Given the description of an element on the screen output the (x, y) to click on. 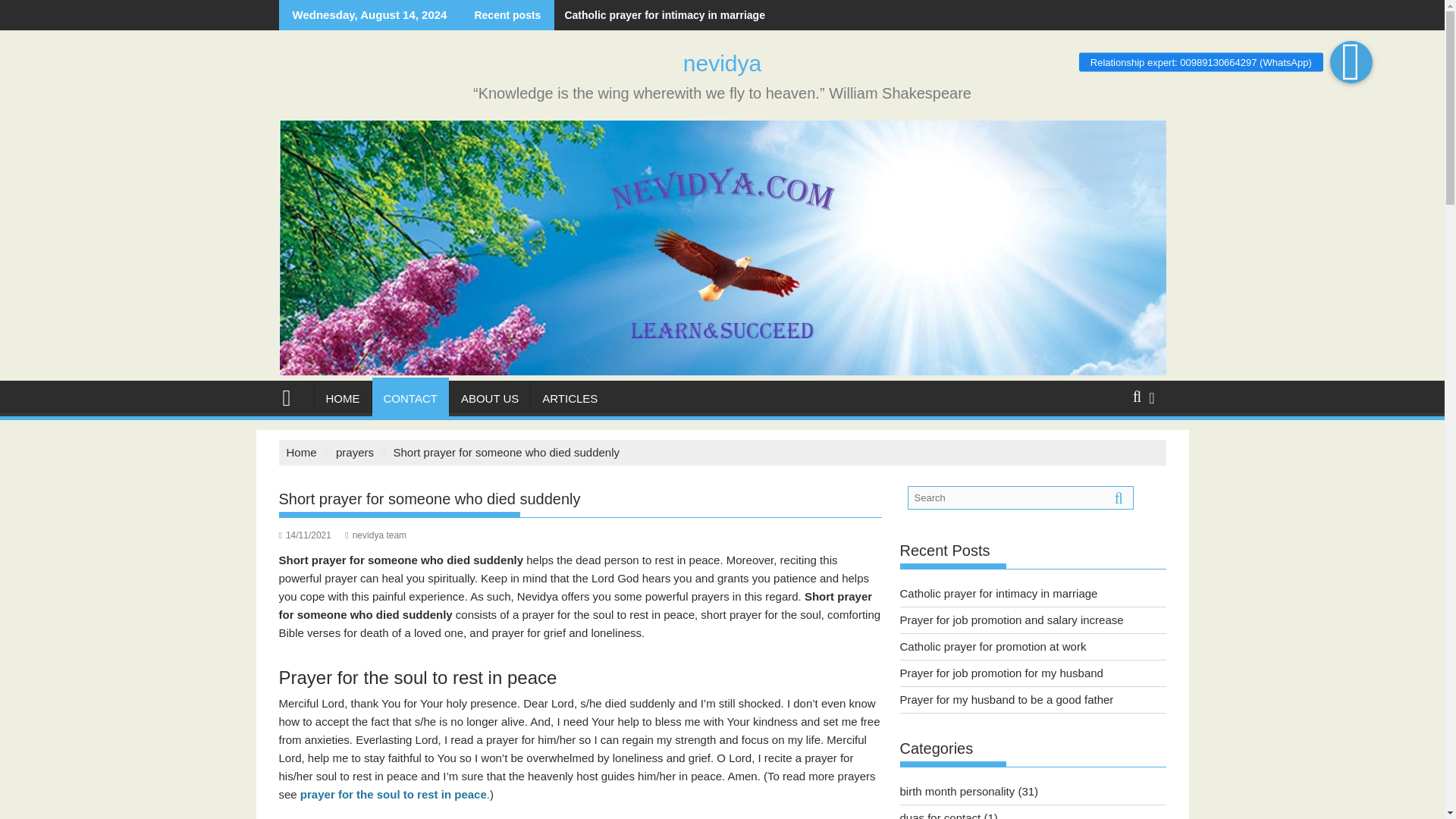
Catholic prayer for intimacy in marriage (659, 15)
nevidya team (375, 534)
ARTICLES (569, 398)
Home (301, 451)
HOME (342, 398)
prayers (355, 451)
nevidya (293, 395)
CONTACT (409, 398)
Catholic prayer for intimacy in marriage (659, 15)
nevidya (721, 63)
